Given the description of an element on the screen output the (x, y) to click on. 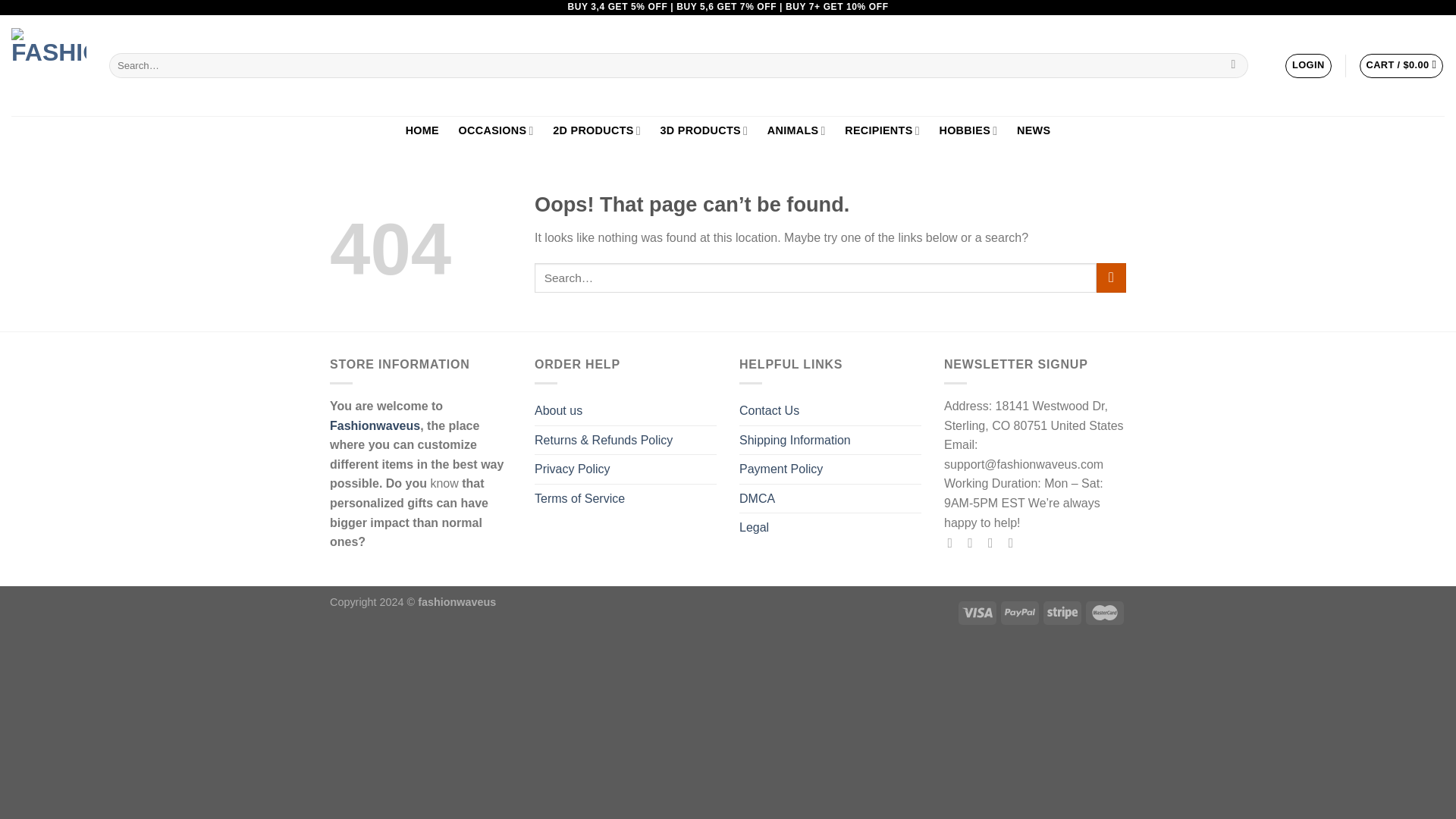
LOGIN (1307, 64)
RECIPIENTS (881, 130)
HOME (422, 130)
Fashionwaveus (48, 65)
Cart (1401, 64)
ANIMALS (796, 130)
Search (1233, 65)
3D PRODUCTS (703, 130)
OCCASIONS (495, 130)
2D PRODUCTS (596, 130)
Follow on Twitter (994, 542)
Follow on Pinterest (1015, 542)
Follow on Facebook (953, 542)
